Given the description of an element on the screen output the (x, y) to click on. 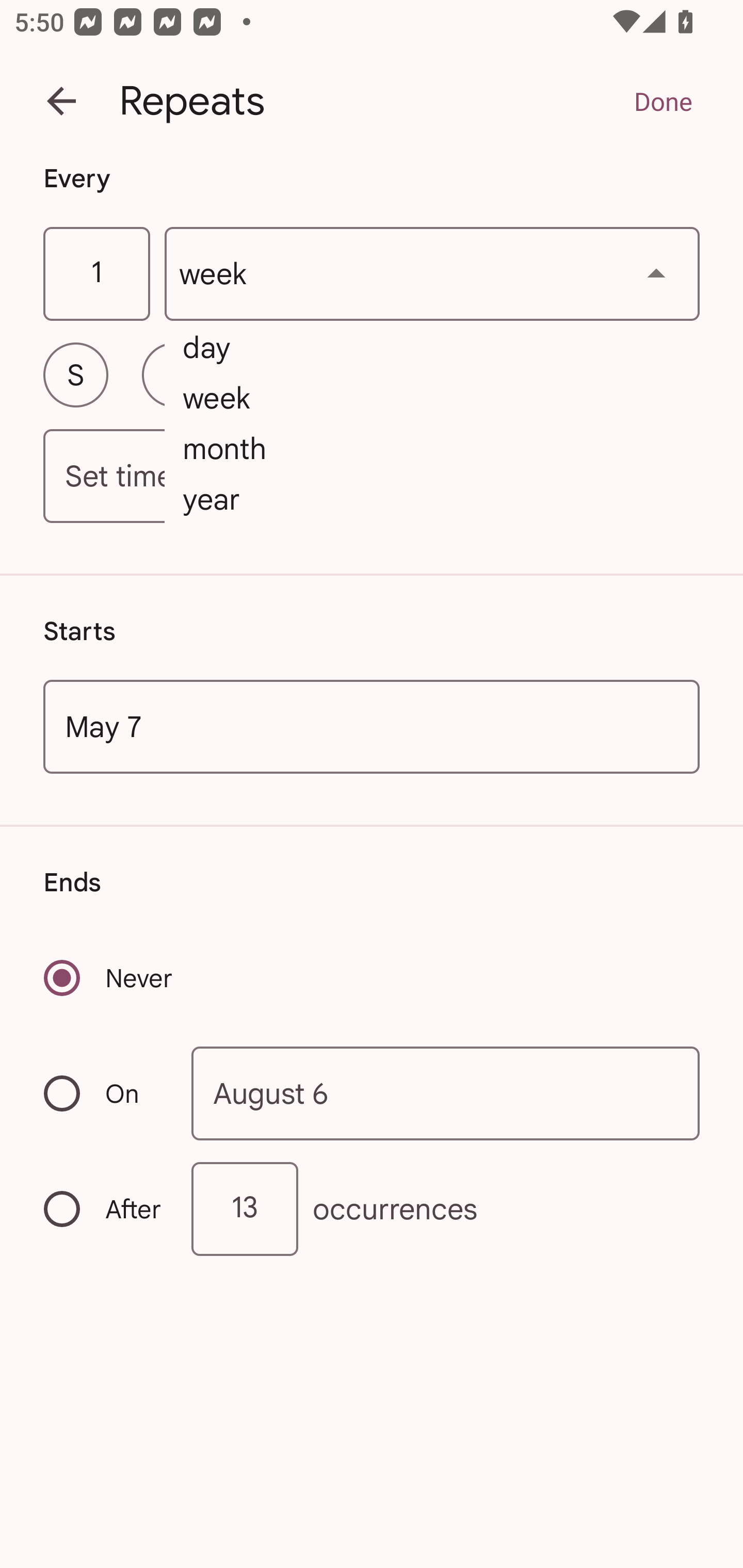
Back (61, 101)
Done (663, 101)
1 (96, 274)
week (431, 274)
Show dropdown menu (655, 273)
S Sunday (75, 374)
M Monday (173, 374)
T Tuesday, selected (272, 374)
W Wednesday (371, 374)
T Thursday (469, 374)
F Friday (568, 374)
S Saturday (666, 374)
Set time (371, 476)
May 7 (371, 726)
Never Recurrence never ends (109, 978)
August 6 (445, 1092)
On Recurrence ends on a specific date (104, 1093)
13 (244, 1208)
